Given the description of an element on the screen output the (x, y) to click on. 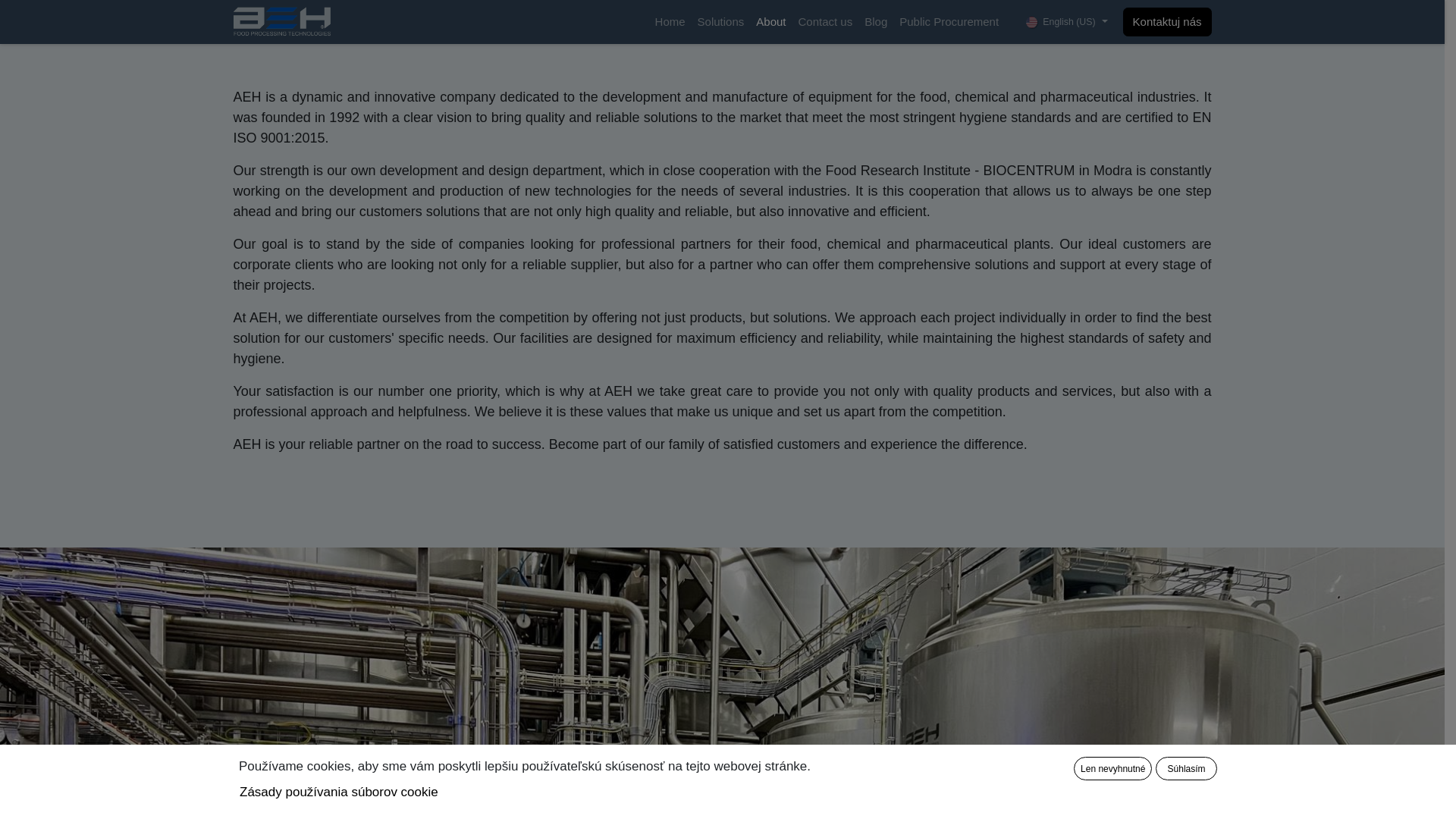
aeh.sk (281, 21)
About (770, 21)
Home (670, 21)
Contact us (825, 21)
Public Procurement (948, 21)
Solutions (721, 21)
Blog (876, 21)
